Given the description of an element on the screen output the (x, y) to click on. 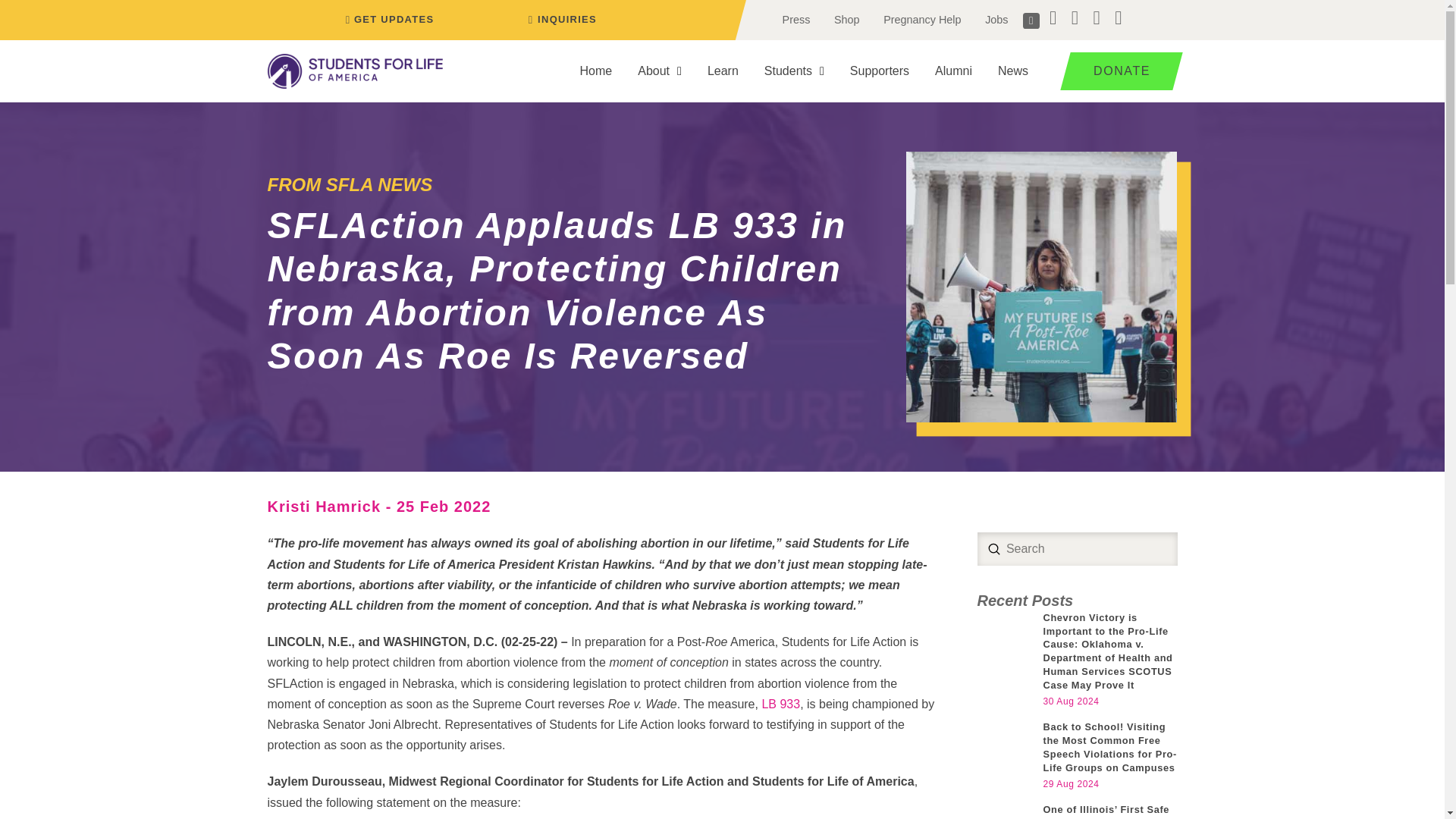
Alumni (953, 71)
Press (796, 20)
Supporters (879, 71)
Students (794, 71)
Learn (722, 71)
Pregnancy Help (921, 20)
About (659, 71)
GET UPDATES (386, 20)
Home (596, 71)
News (1013, 71)
